Given the description of an element on the screen output the (x, y) to click on. 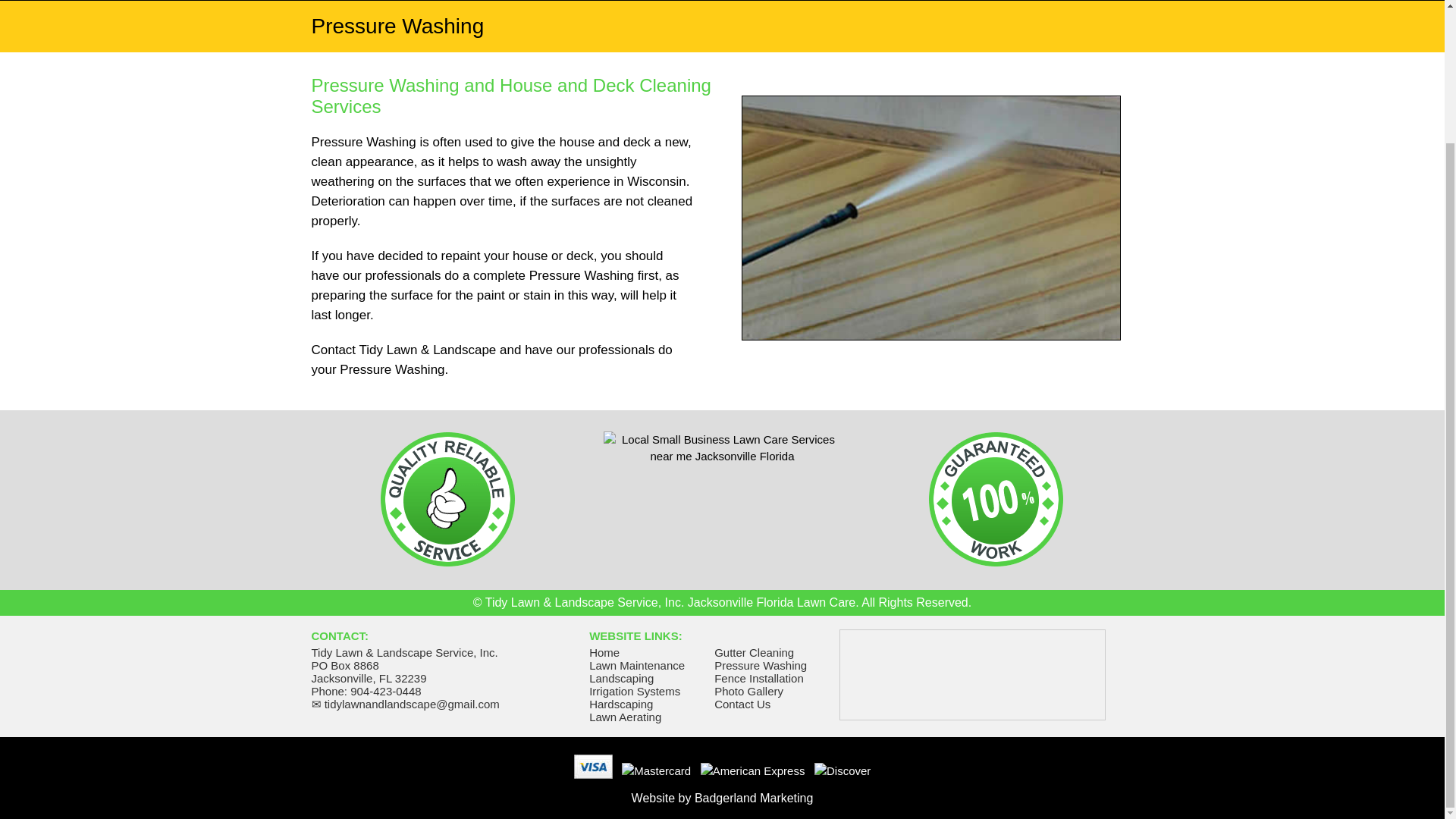
Gutter Cleaning (753, 652)
Photo Gallery (748, 690)
Irrigation Systems (634, 690)
Lawn Aerating (625, 716)
Lawn Maintenance (636, 665)
Contact Us (742, 703)
Landscaping (621, 677)
Home (604, 652)
Fence Installation (758, 677)
Pressure Washing (760, 665)
